Given the description of an element on the screen output the (x, y) to click on. 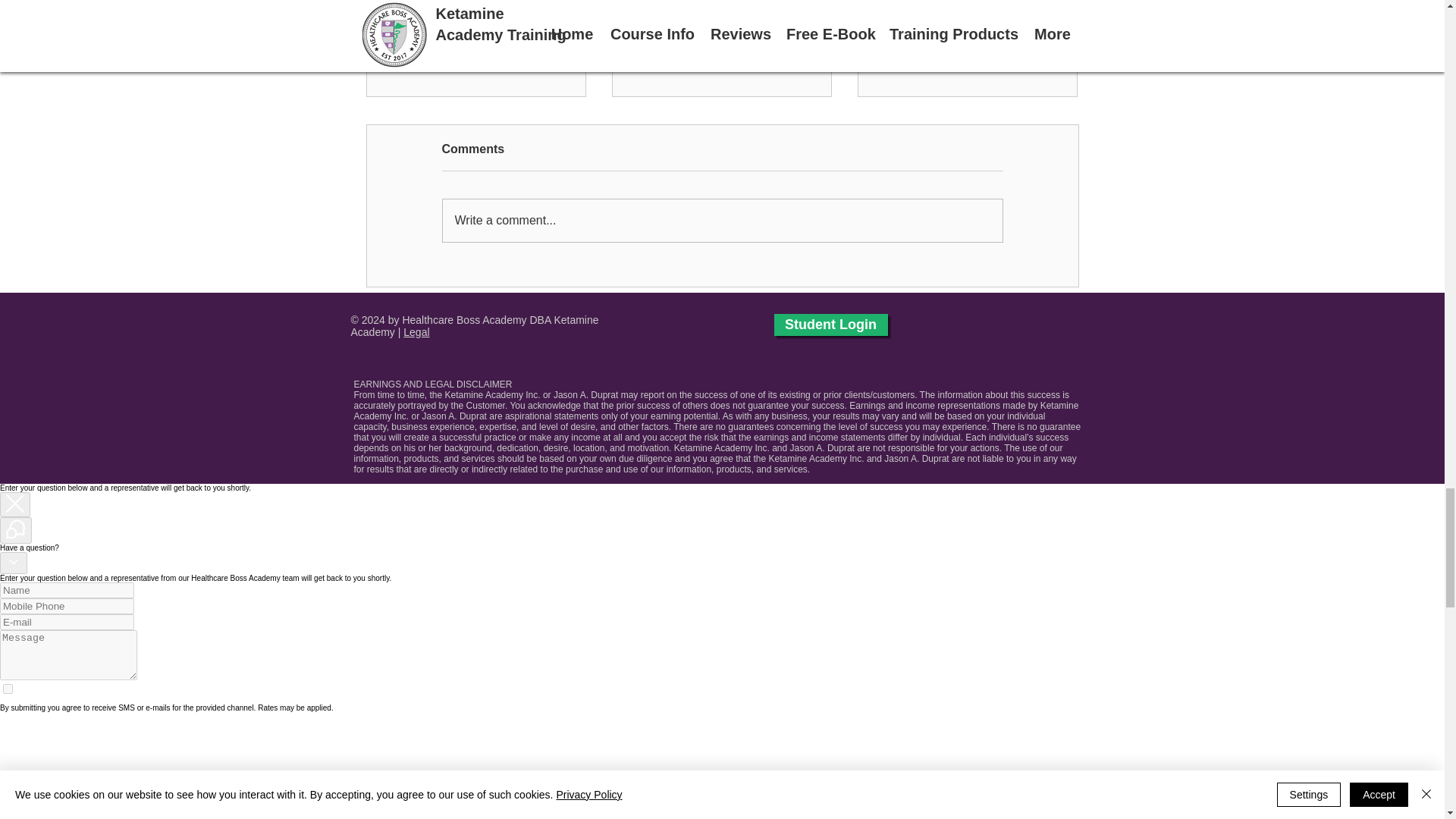
Starting a Ketamine Clinic: Key Considerations (967, 51)
Student Login (829, 324)
The Dangers of Untrained Ketamine Providers (721, 51)
Write a comment... (722, 220)
Legal (416, 331)
